Given the description of an element on the screen output the (x, y) to click on. 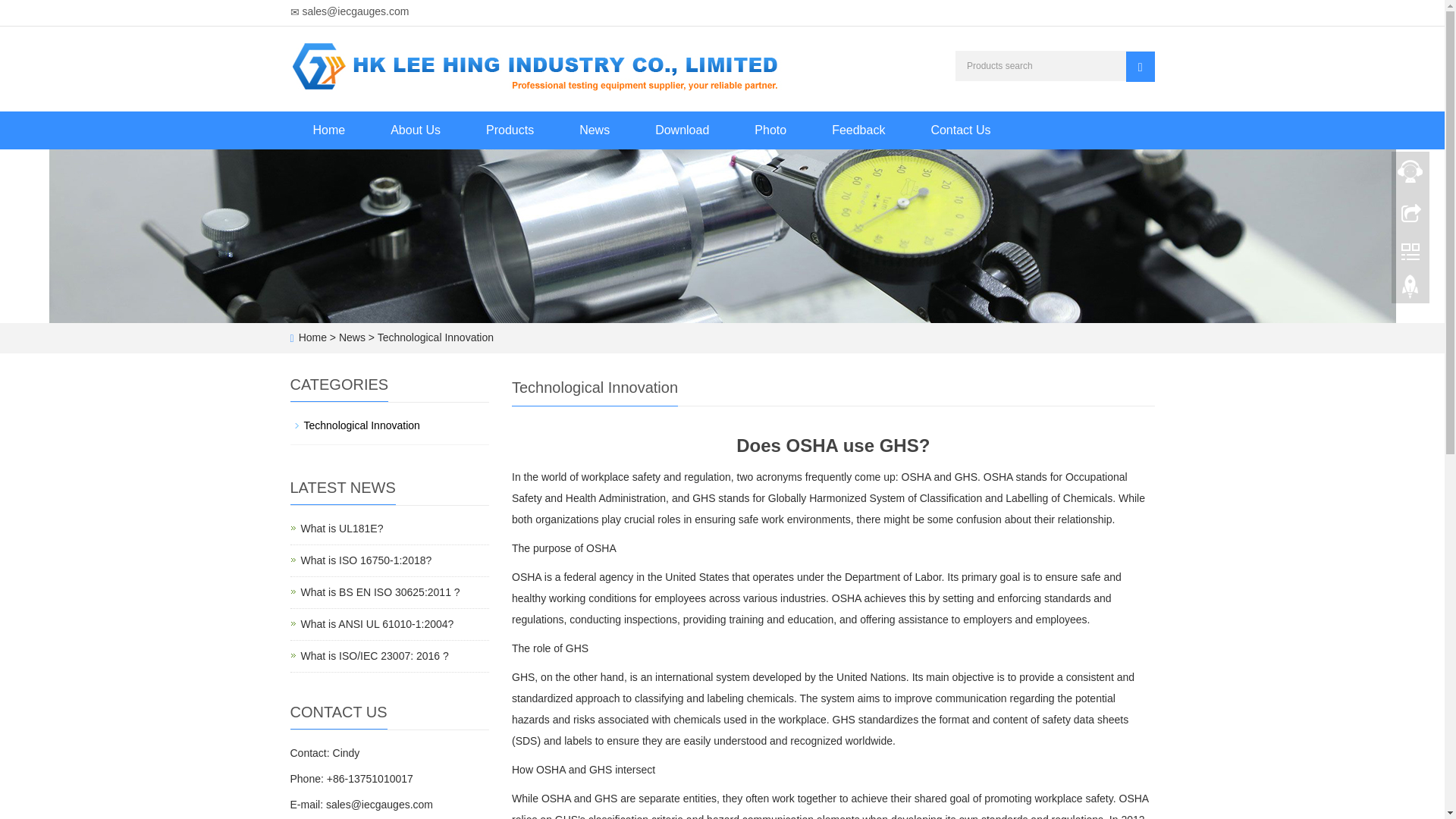
Products (509, 130)
What is ANSI UL 61010-1:2004? (375, 623)
News (593, 130)
Top (1410, 290)
About Us (415, 130)
Download (681, 130)
Photo (770, 130)
What is UL181E? (379, 592)
Home (340, 528)
Products search (328, 130)
What is ISO 16750-1:2018? (1139, 66)
